Given the description of an element on the screen output the (x, y) to click on. 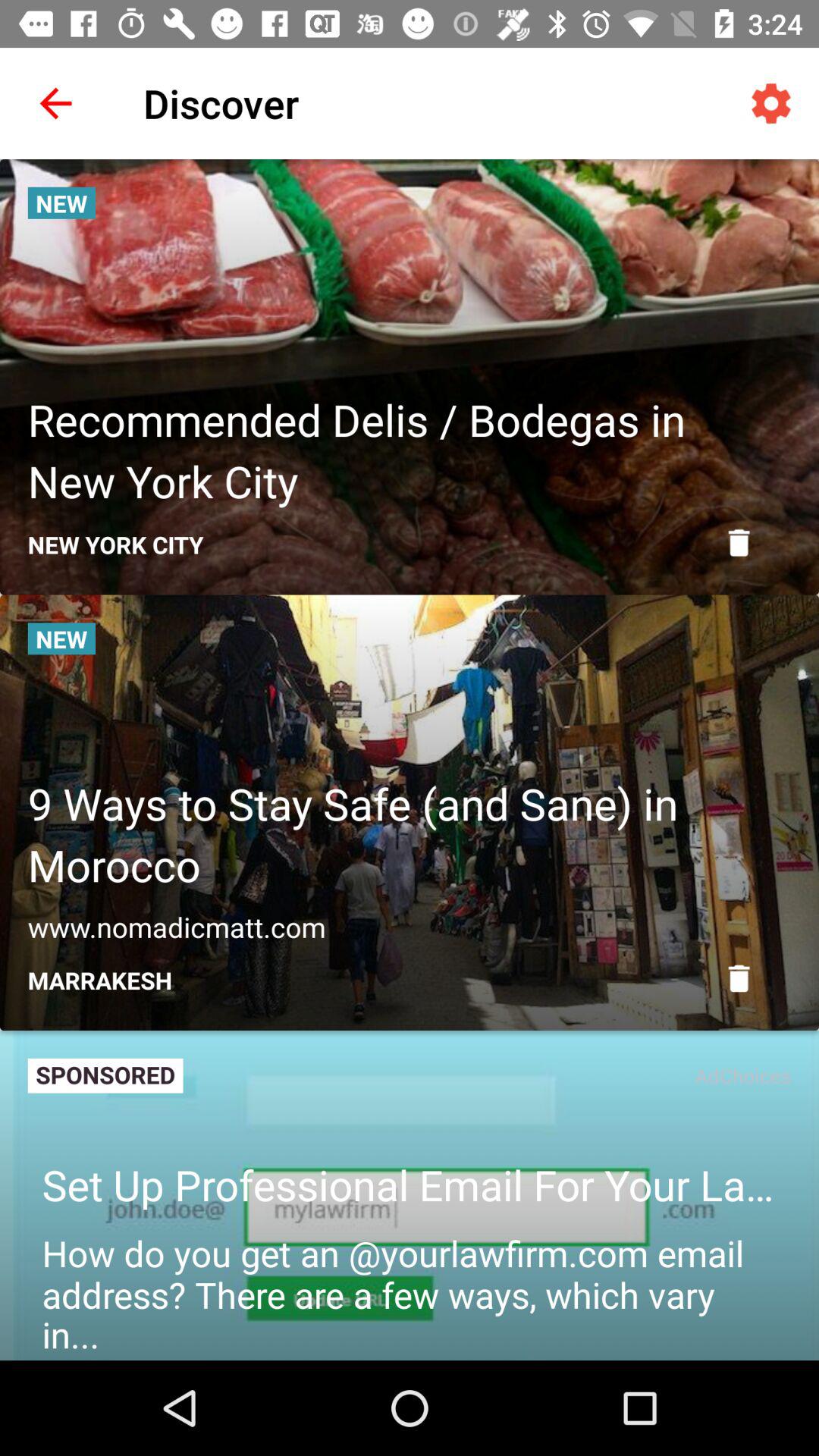
turn on the icon next to discover icon (771, 103)
